Given the description of an element on the screen output the (x, y) to click on. 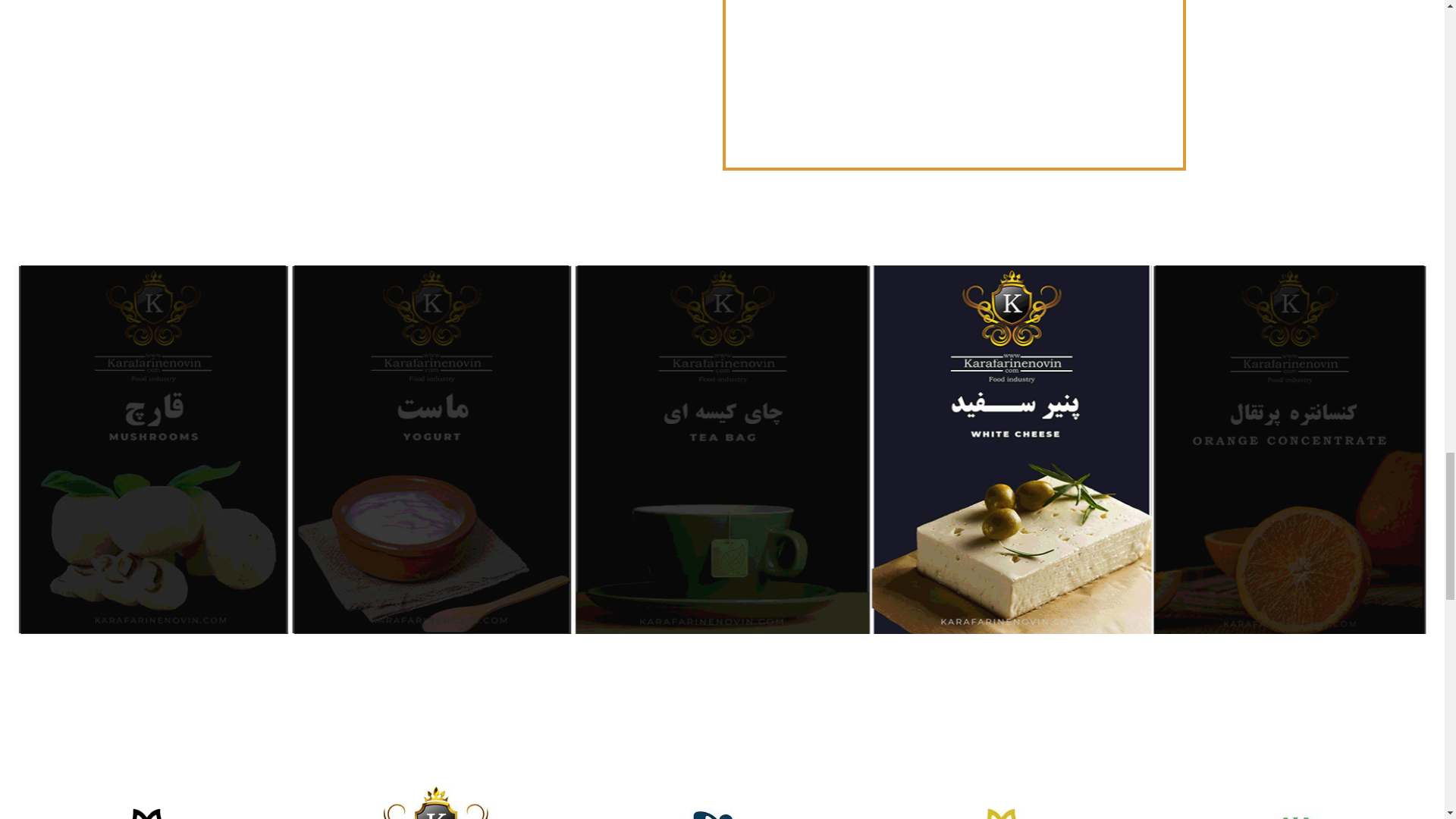
afagh (1292, 807)
